Given the description of an element on the screen output the (x, y) to click on. 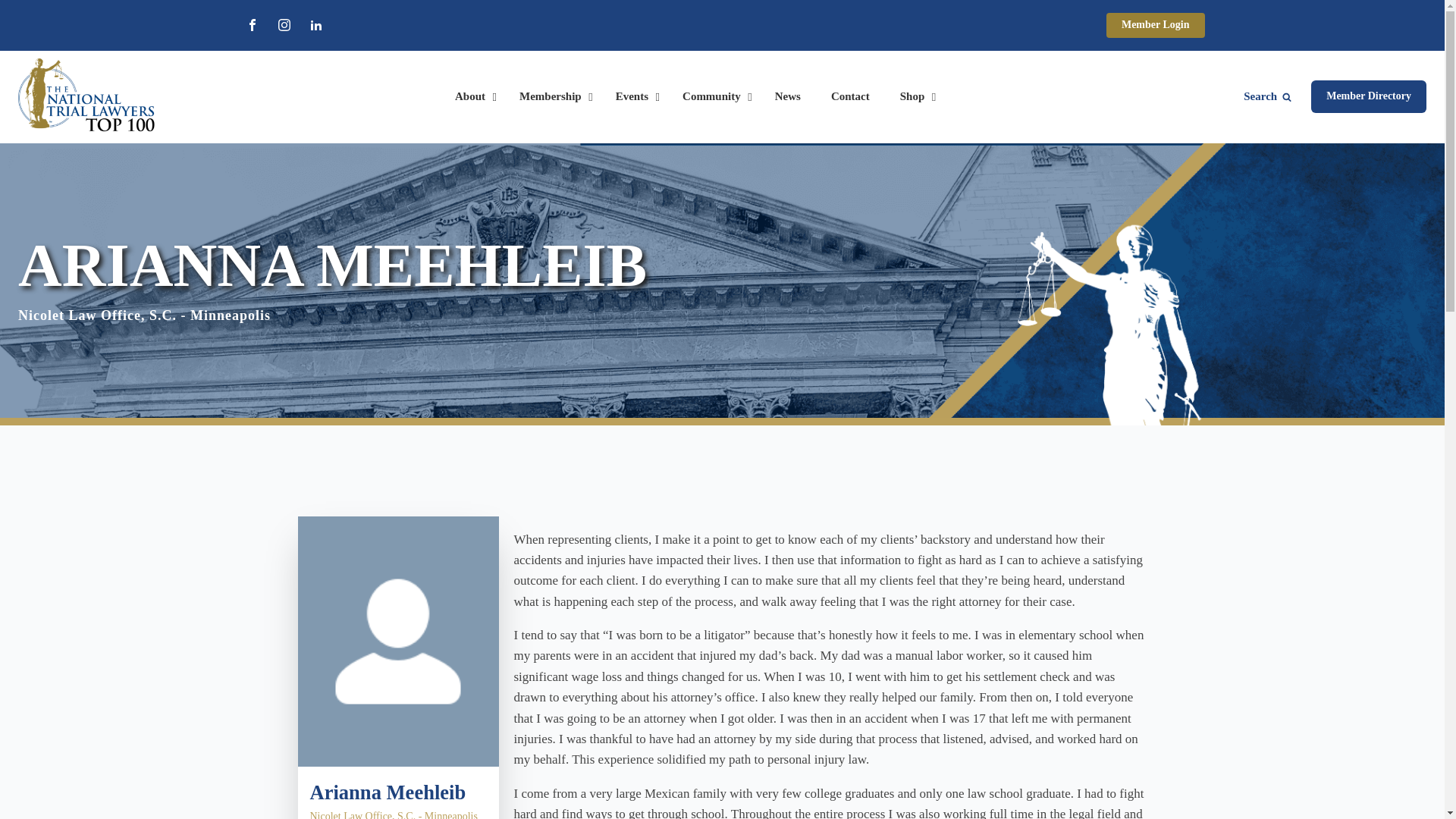
About (471, 96)
Membership (551, 96)
Member Login (1155, 25)
